Given the description of an element on the screen output the (x, y) to click on. 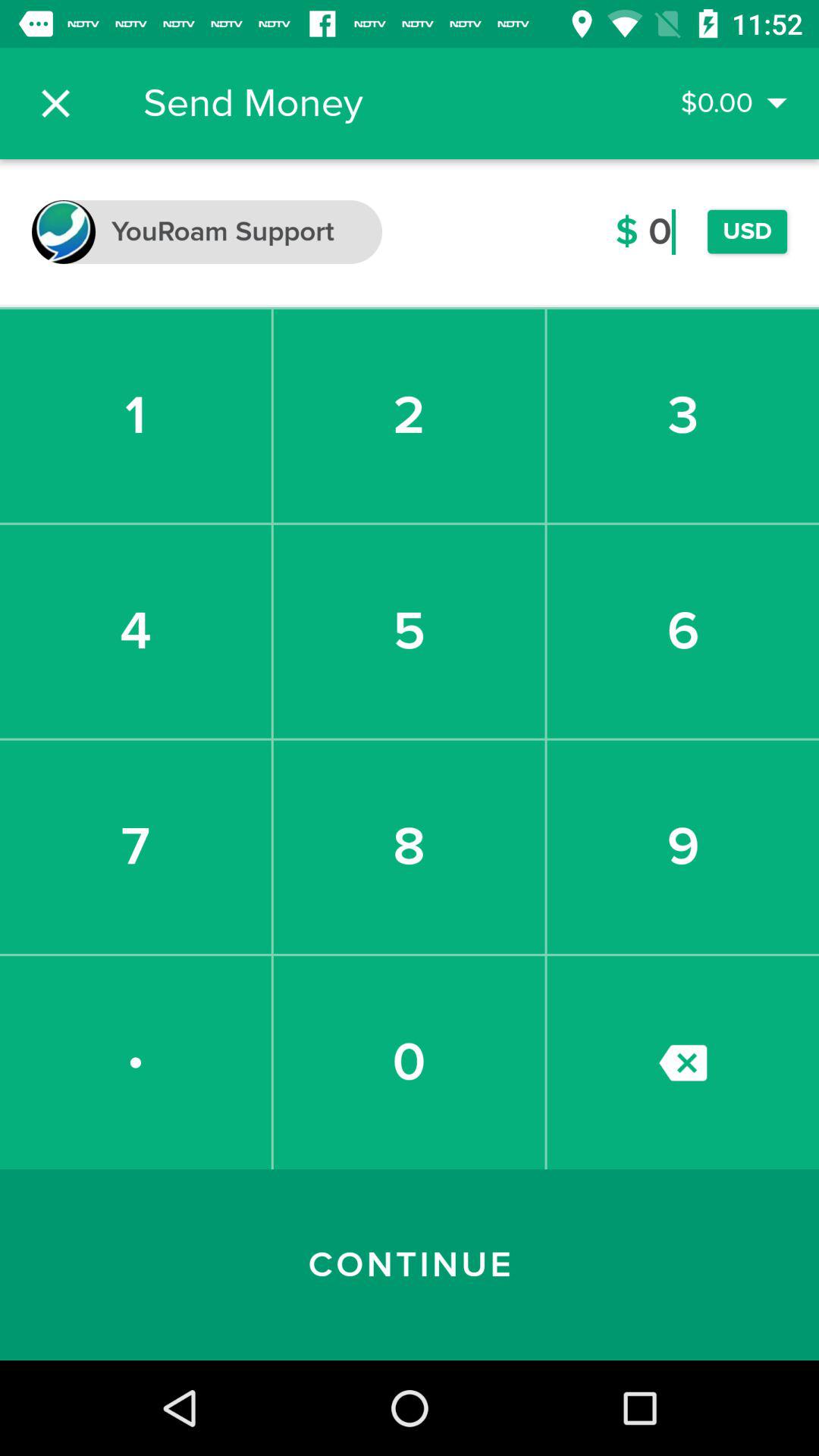
tap the item below . item (409, 1264)
